Given the description of an element on the screen output the (x, y) to click on. 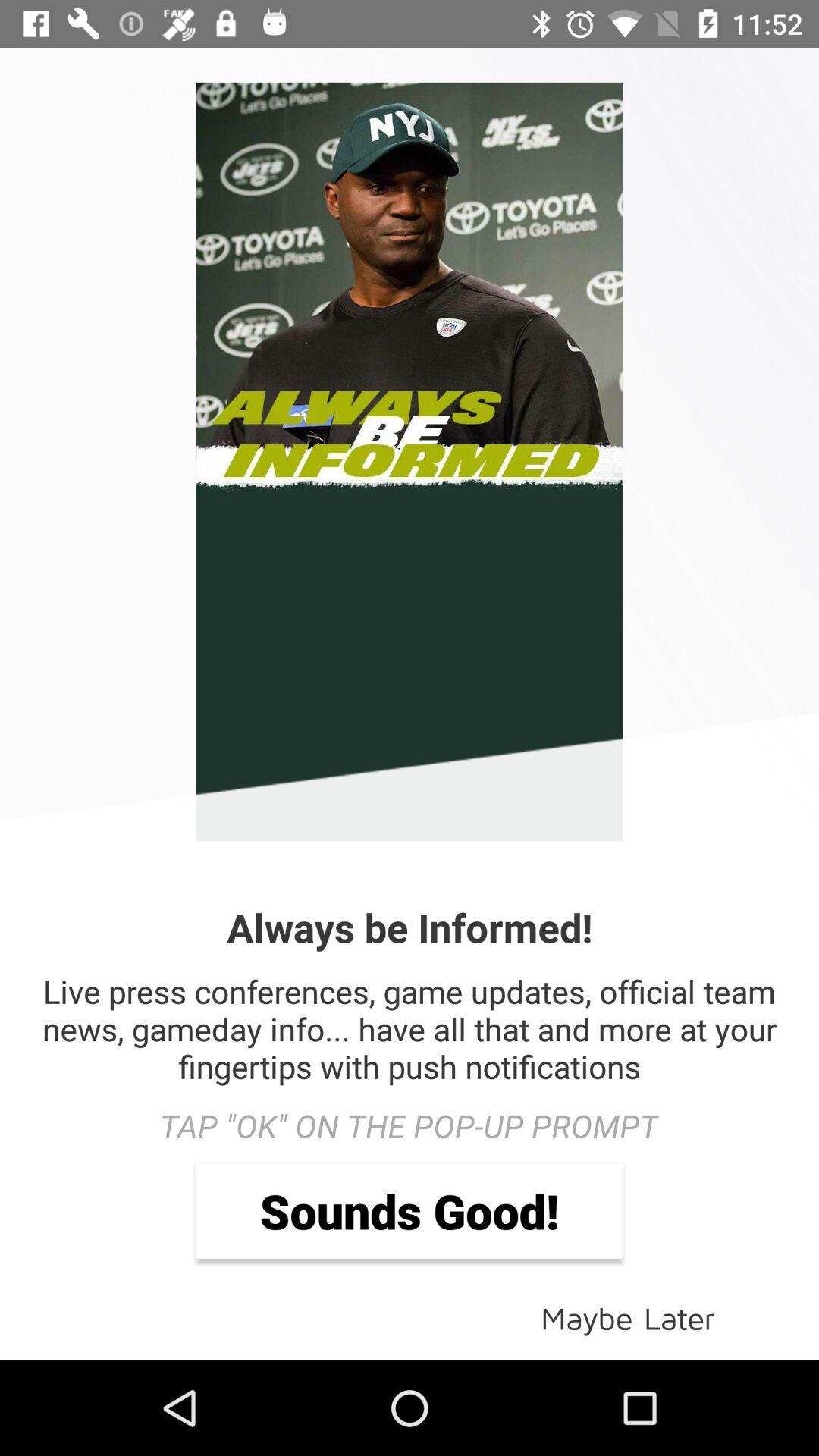
choose the item below the sounds good! icon (627, 1317)
